Given the description of an element on the screen output the (x, y) to click on. 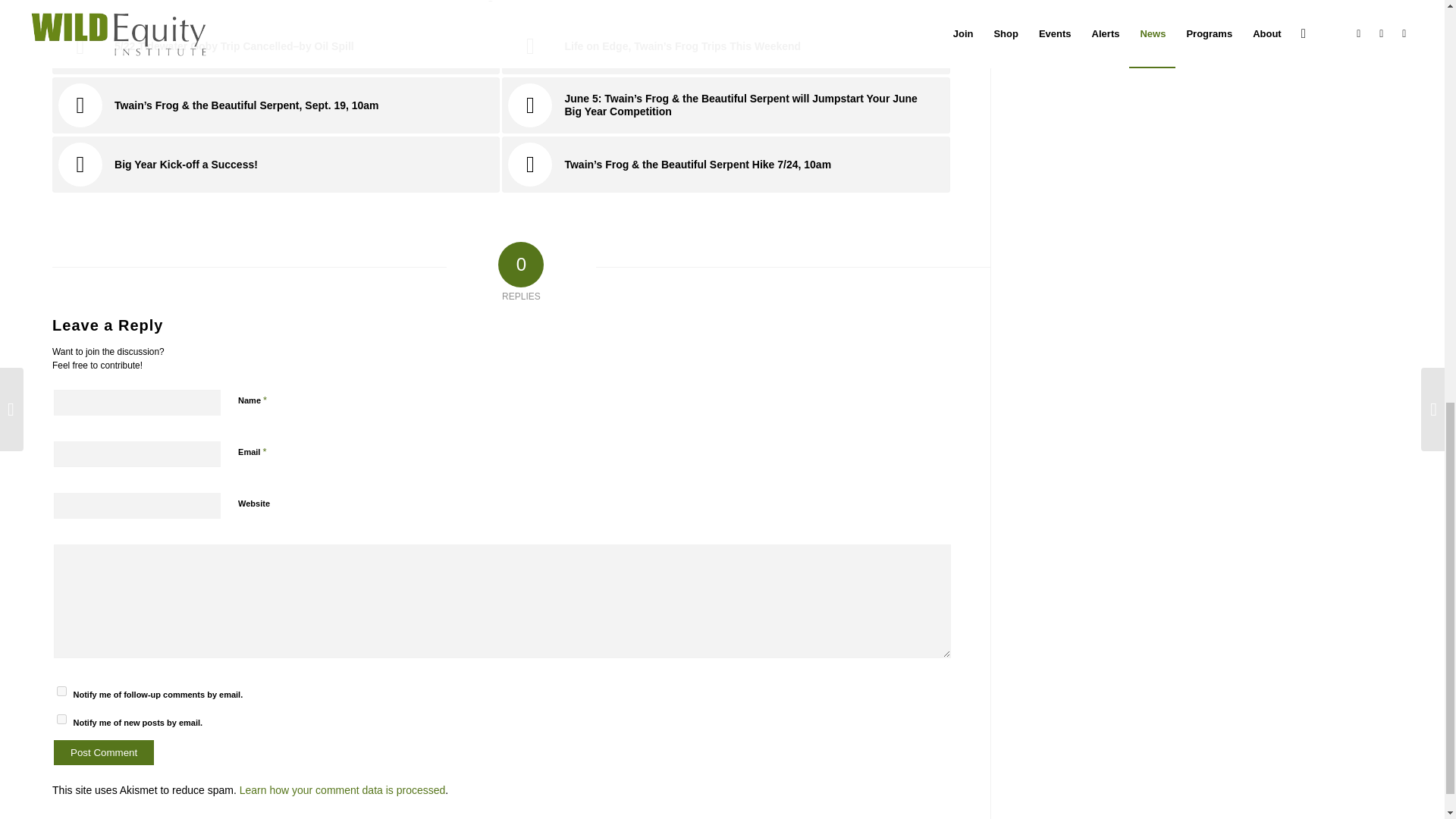
Post Comment (103, 752)
subscribe (61, 691)
subscribe (61, 718)
